Given the description of an element on the screen output the (x, y) to click on. 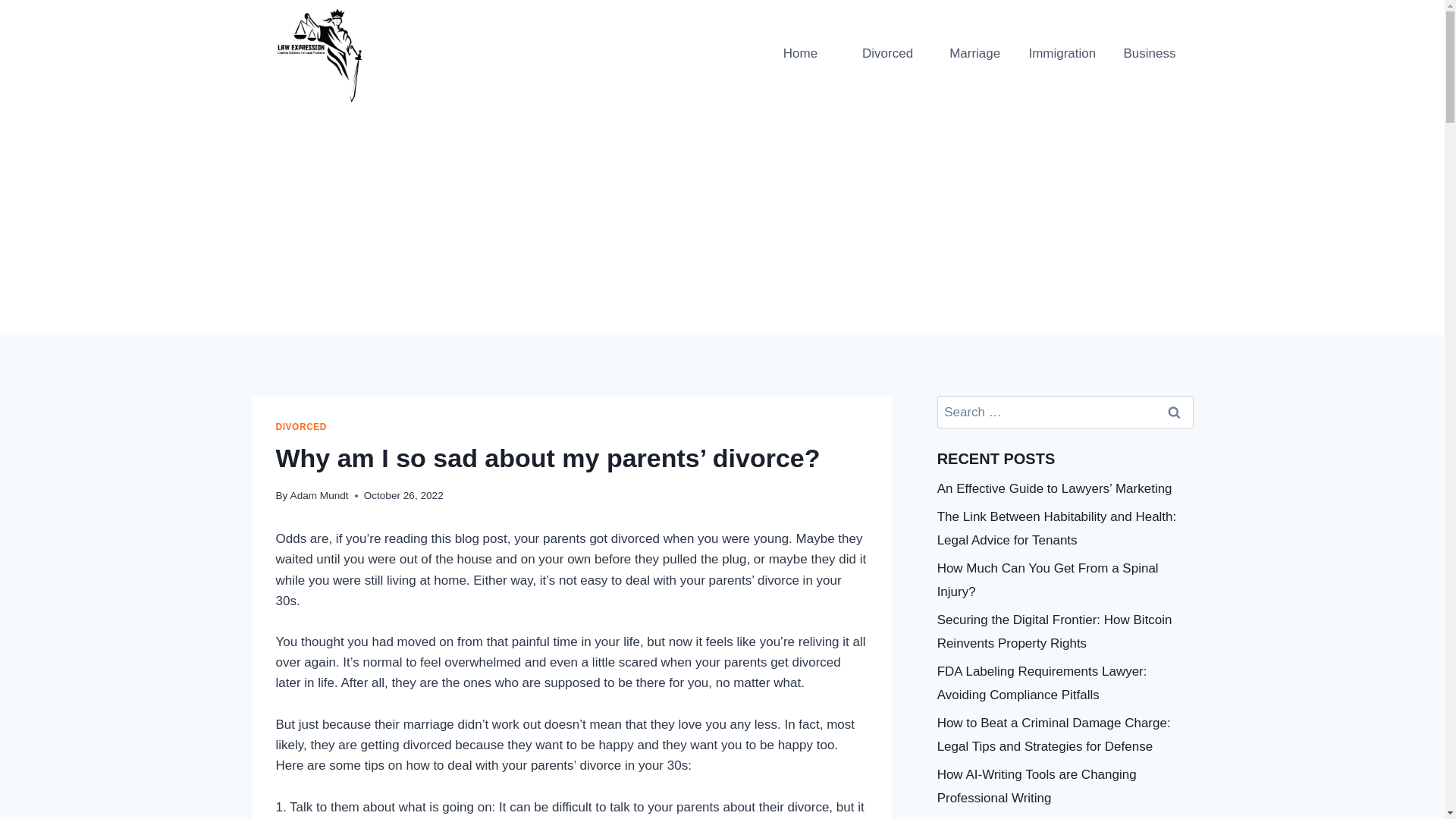
Immigration (1061, 54)
DIVORCED (301, 426)
Search (1174, 411)
Home (800, 54)
Search (1174, 411)
Adam Mundt (319, 495)
Divorced (887, 54)
Business (1148, 54)
Marriage (974, 54)
